Given the description of an element on the screen output the (x, y) to click on. 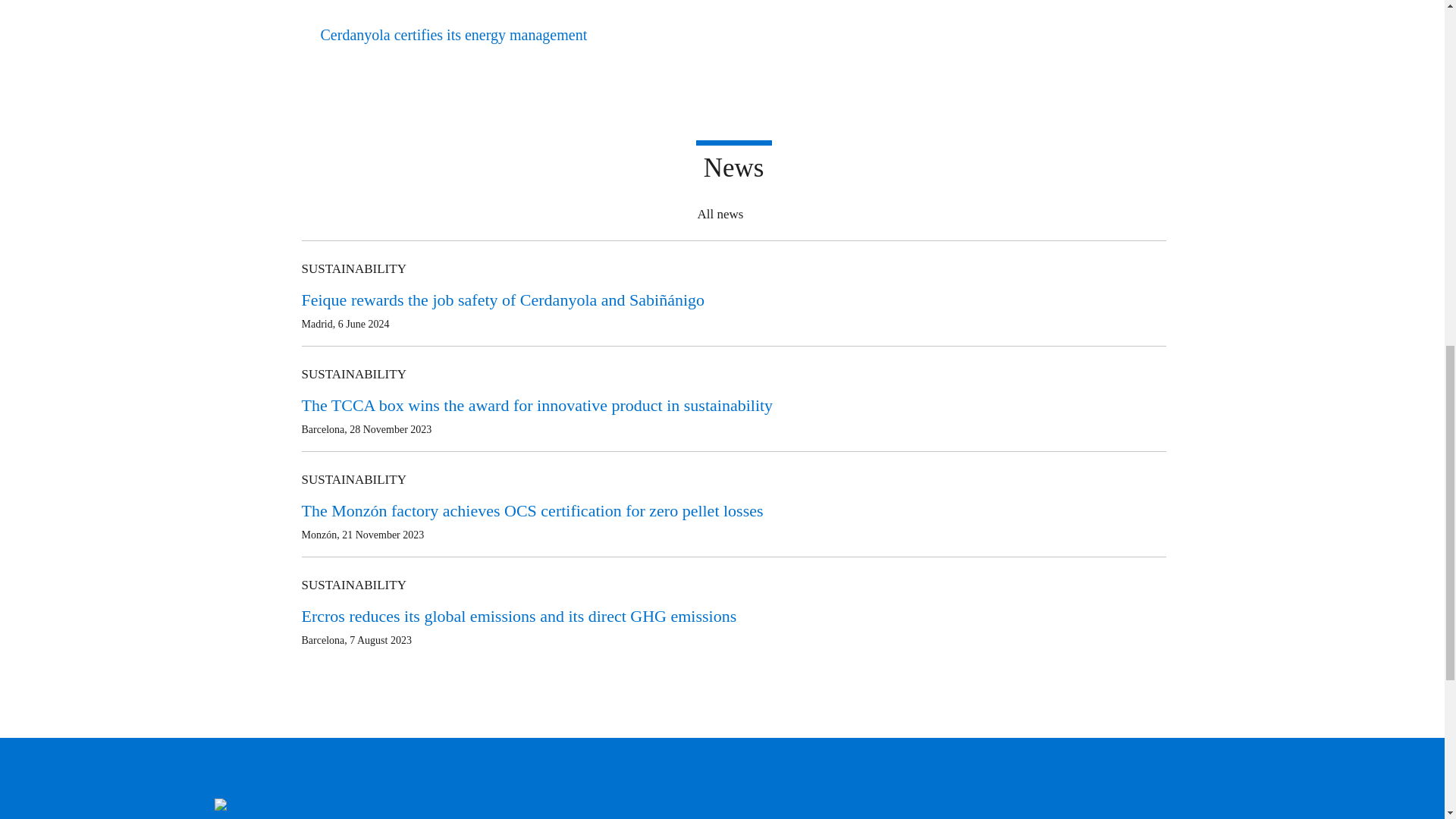
Monday, August 7, 2023 - 21:34 (380, 640)
Thursday, June 6, 2024 - 18:00 (363, 324)
Tuesday, November 28, 2023 - 21:34 (389, 429)
Tuesday, November 21, 2023 - 21:34 (382, 534)
